Given the description of an element on the screen output the (x, y) to click on. 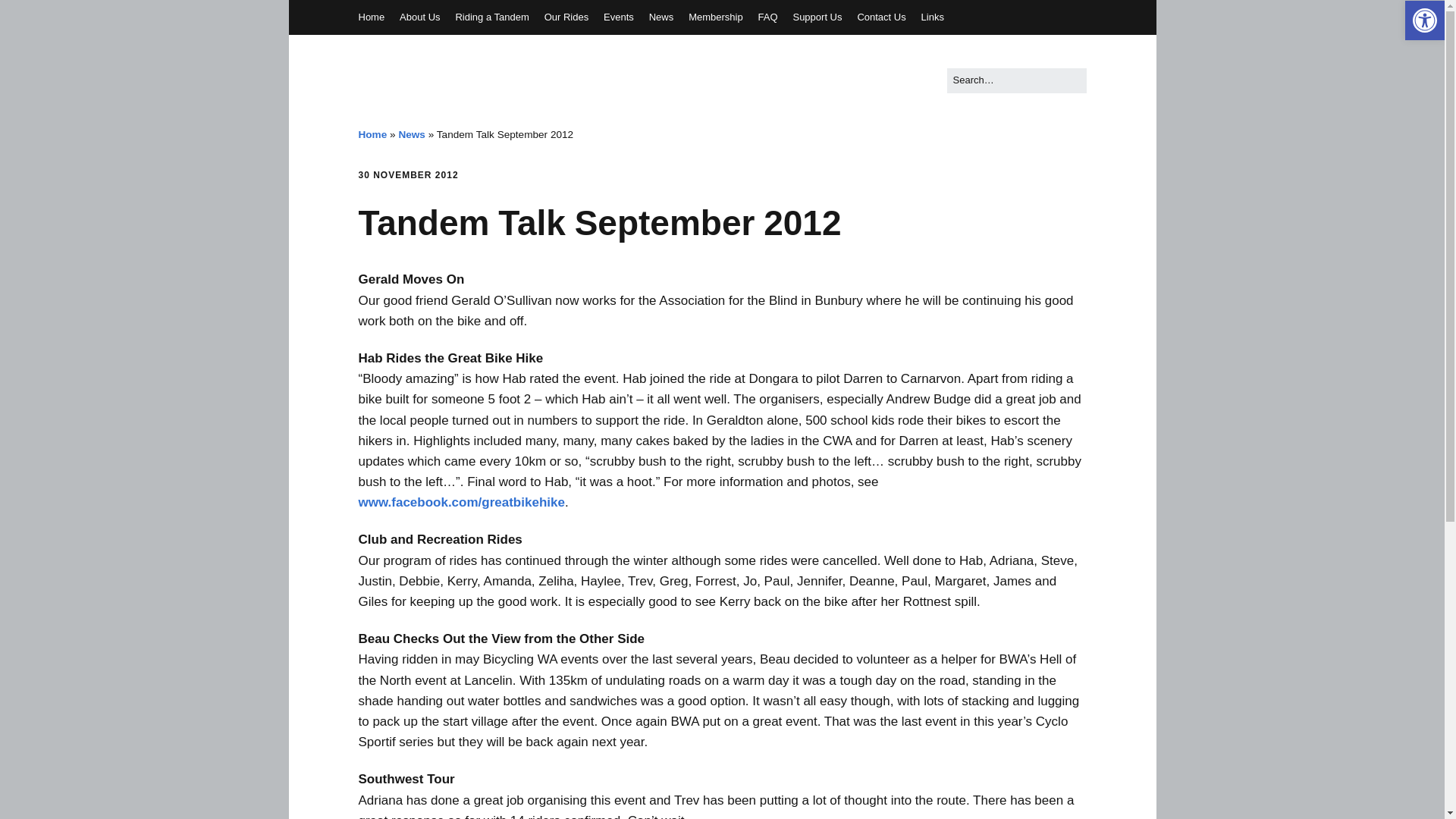
Links (932, 16)
Home (372, 134)
Accessibility Tools (1424, 20)
Search (29, 15)
Riding a Tandem (491, 16)
News (411, 134)
Home (371, 16)
Press Enter to submit your search (1016, 80)
Membership (715, 16)
Support Us (816, 16)
Our Rides (566, 16)
FAQ (767, 16)
Contact Us (881, 16)
About Us (418, 16)
Events (618, 16)
